Given the description of an element on the screen output the (x, y) to click on. 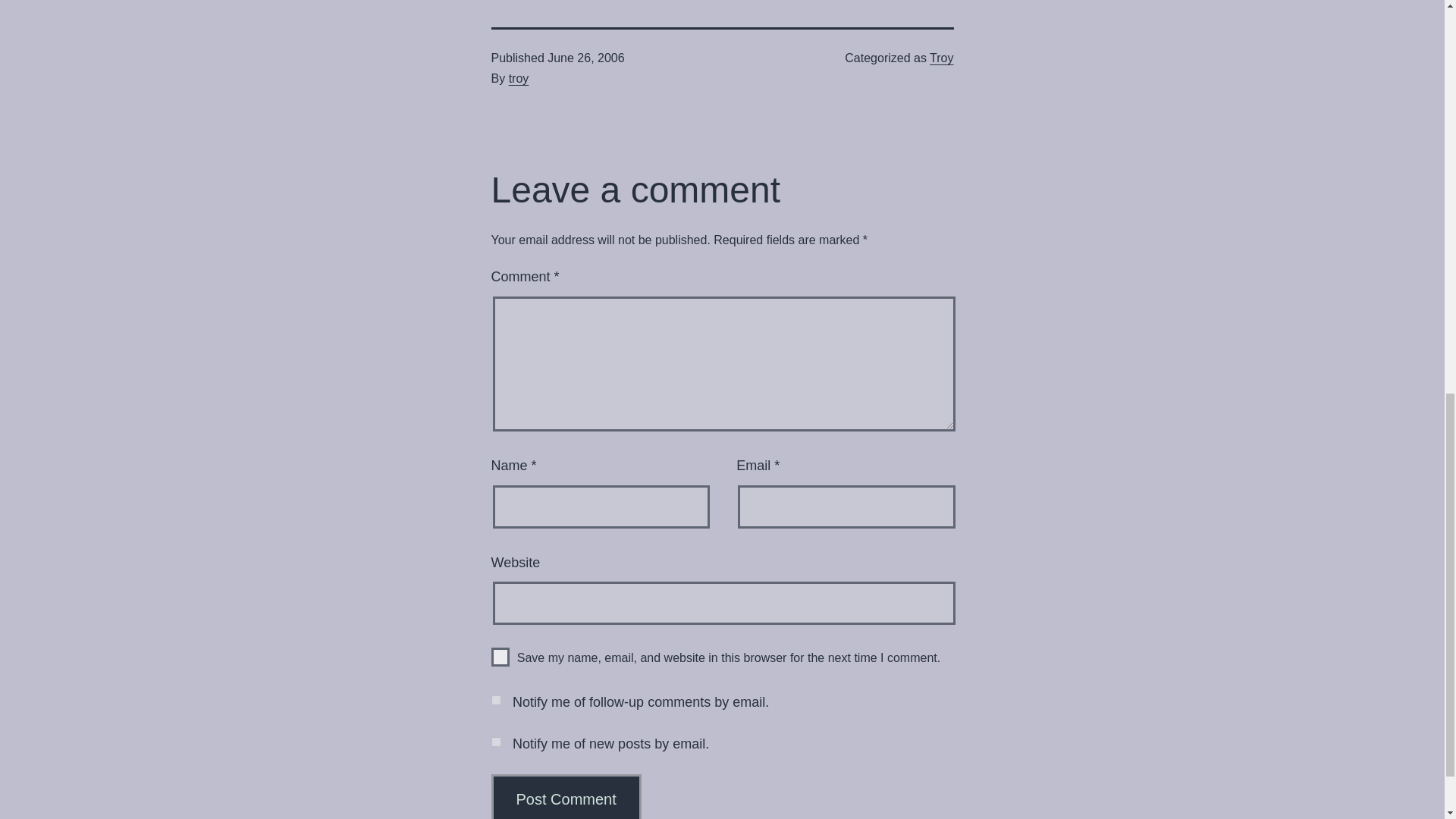
Post Comment (567, 796)
troy (518, 78)
Troy (941, 57)
yes (500, 656)
Post Comment (567, 796)
